Given the description of an element on the screen output the (x, y) to click on. 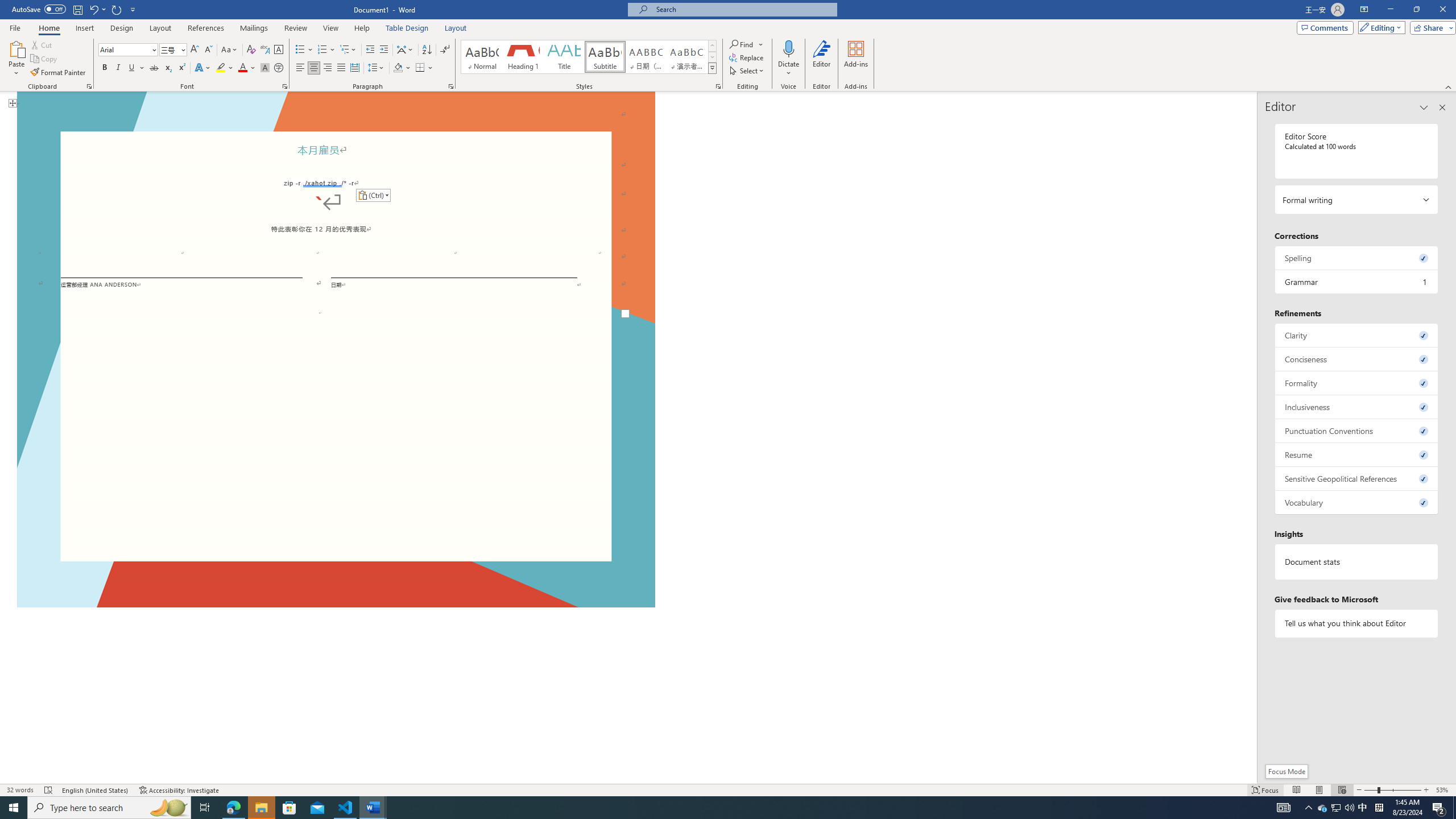
Undo Paste (92, 9)
